Given the description of an element on the screen output the (x, y) to click on. 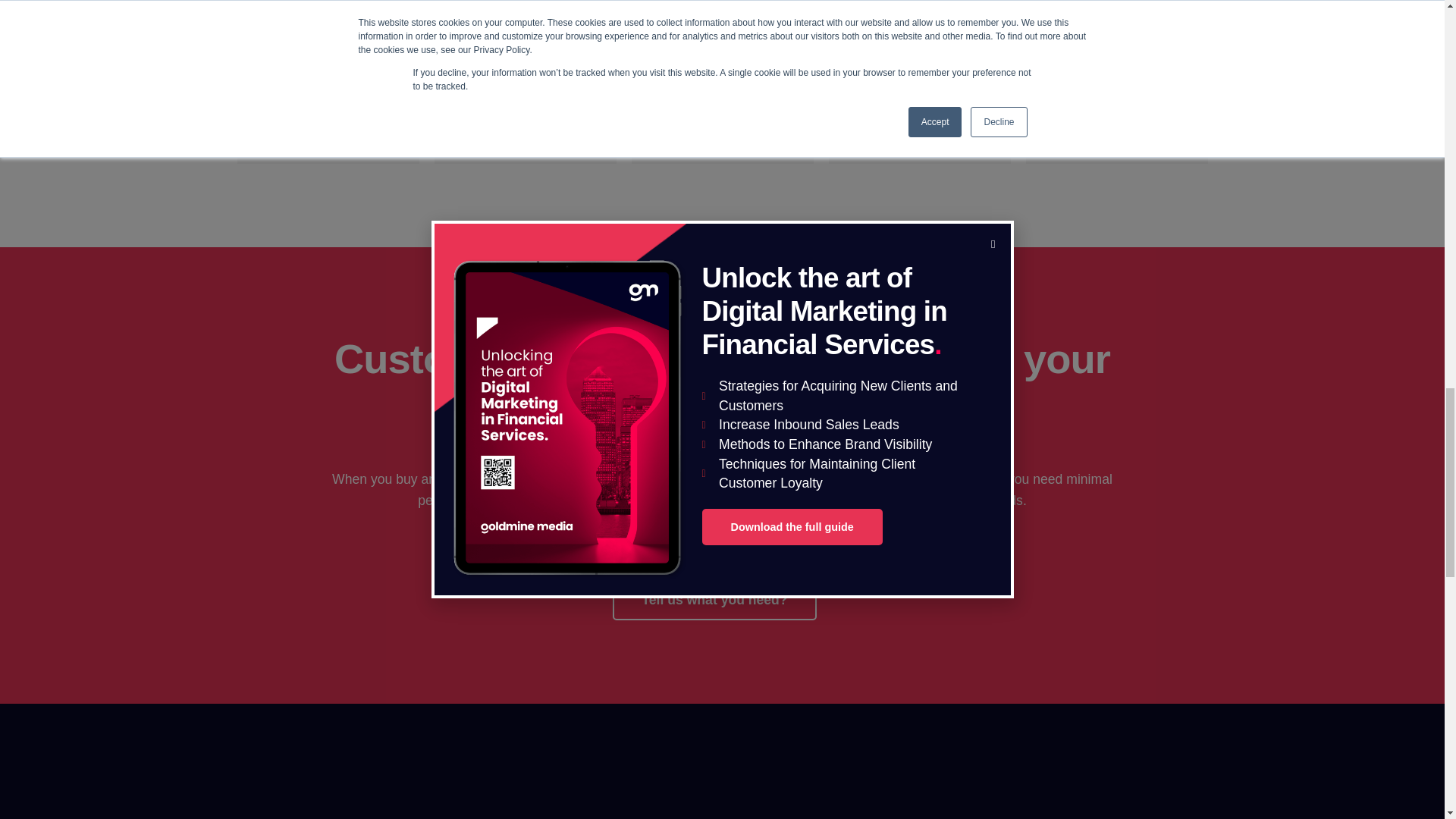
Add to basket (722, 122)
Add to basket (327, 122)
Add to basket (919, 122)
Add to basket (1115, 122)
Tell us what you need? (713, 601)
Add to basket (524, 122)
